Given the description of an element on the screen output the (x, y) to click on. 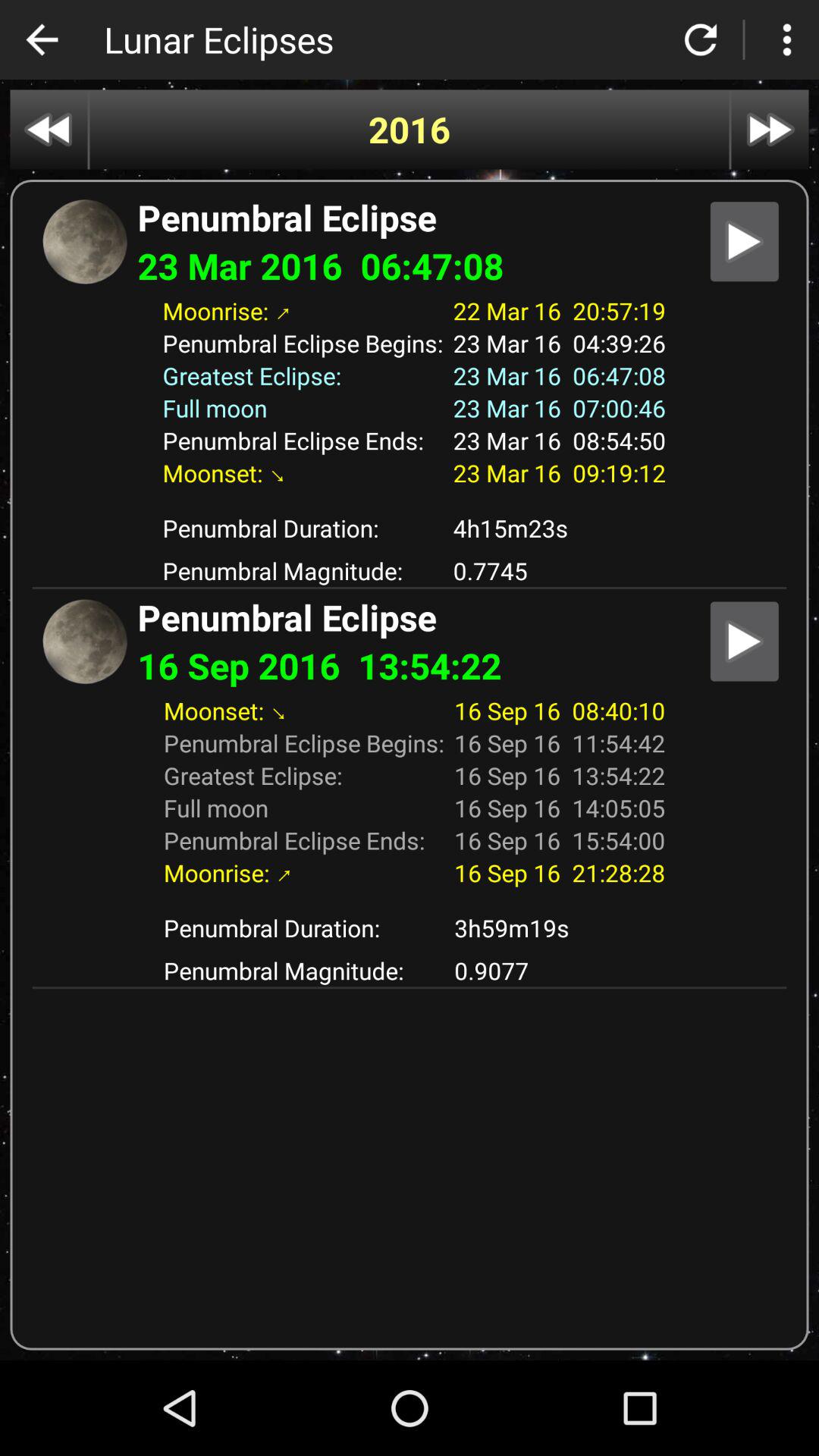
select the app next to the lunar eclipses icon (41, 39)
